Given the description of an element on the screen output the (x, y) to click on. 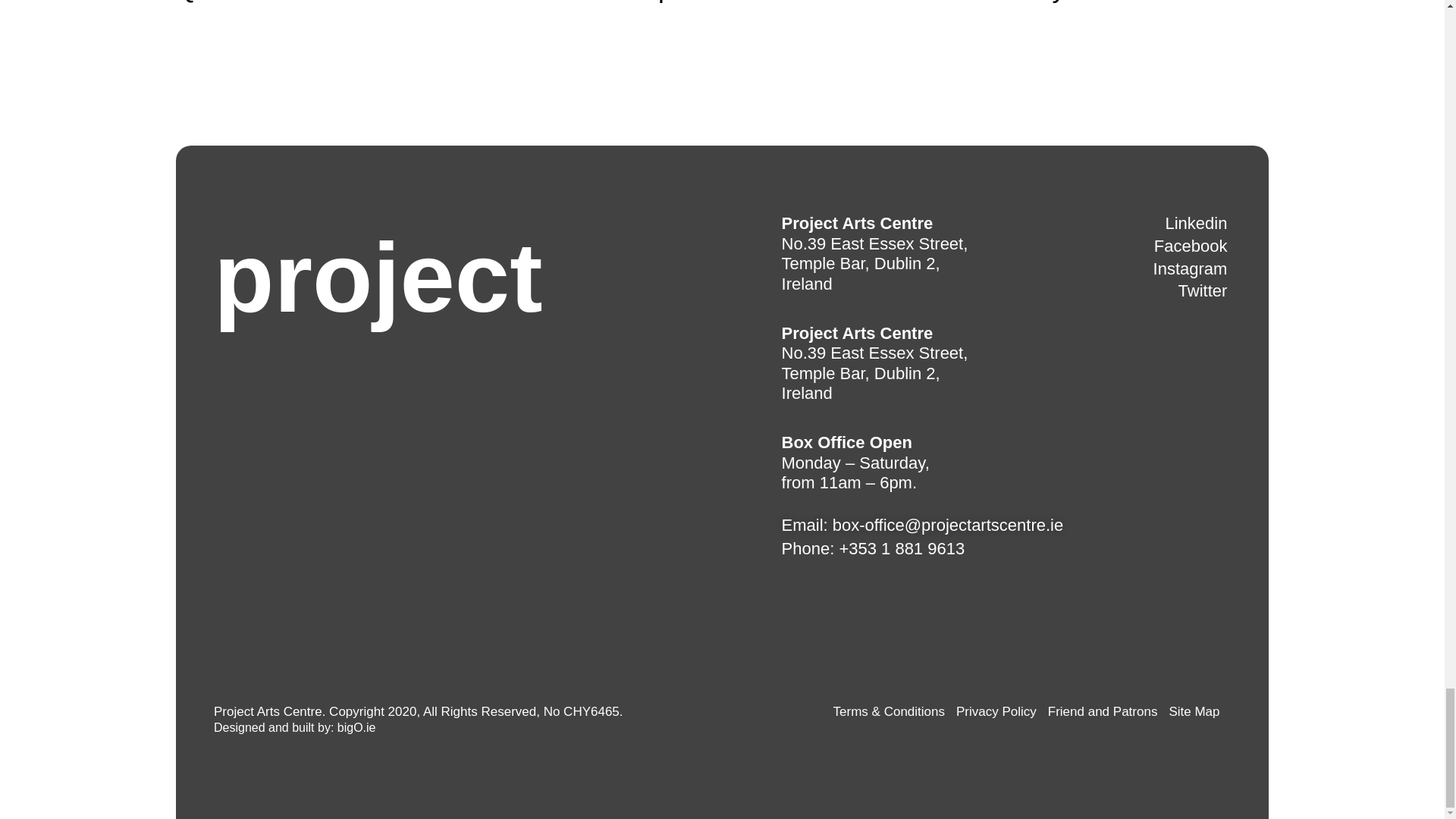
Twitter (1202, 291)
Privacy Policy (996, 712)
Friend and Patrons (1102, 712)
Instagram (1190, 269)
Facebook (1190, 246)
Linkedin (1195, 223)
Site Map (1194, 712)
